Given the description of an element on the screen output the (x, y) to click on. 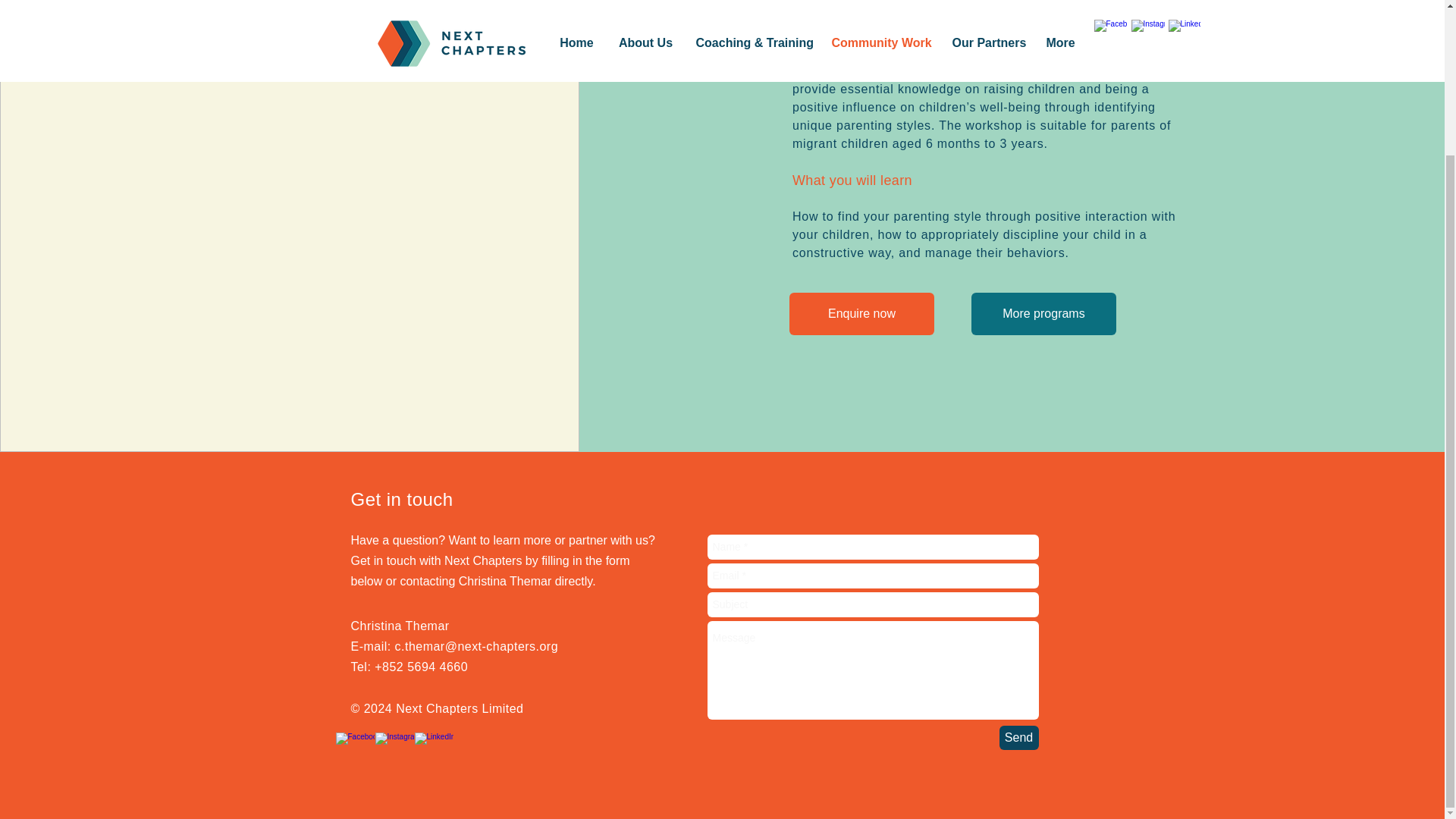
Send (1018, 737)
Enquire now (861, 313)
More programs (1043, 313)
